Given the description of an element on the screen output the (x, y) to click on. 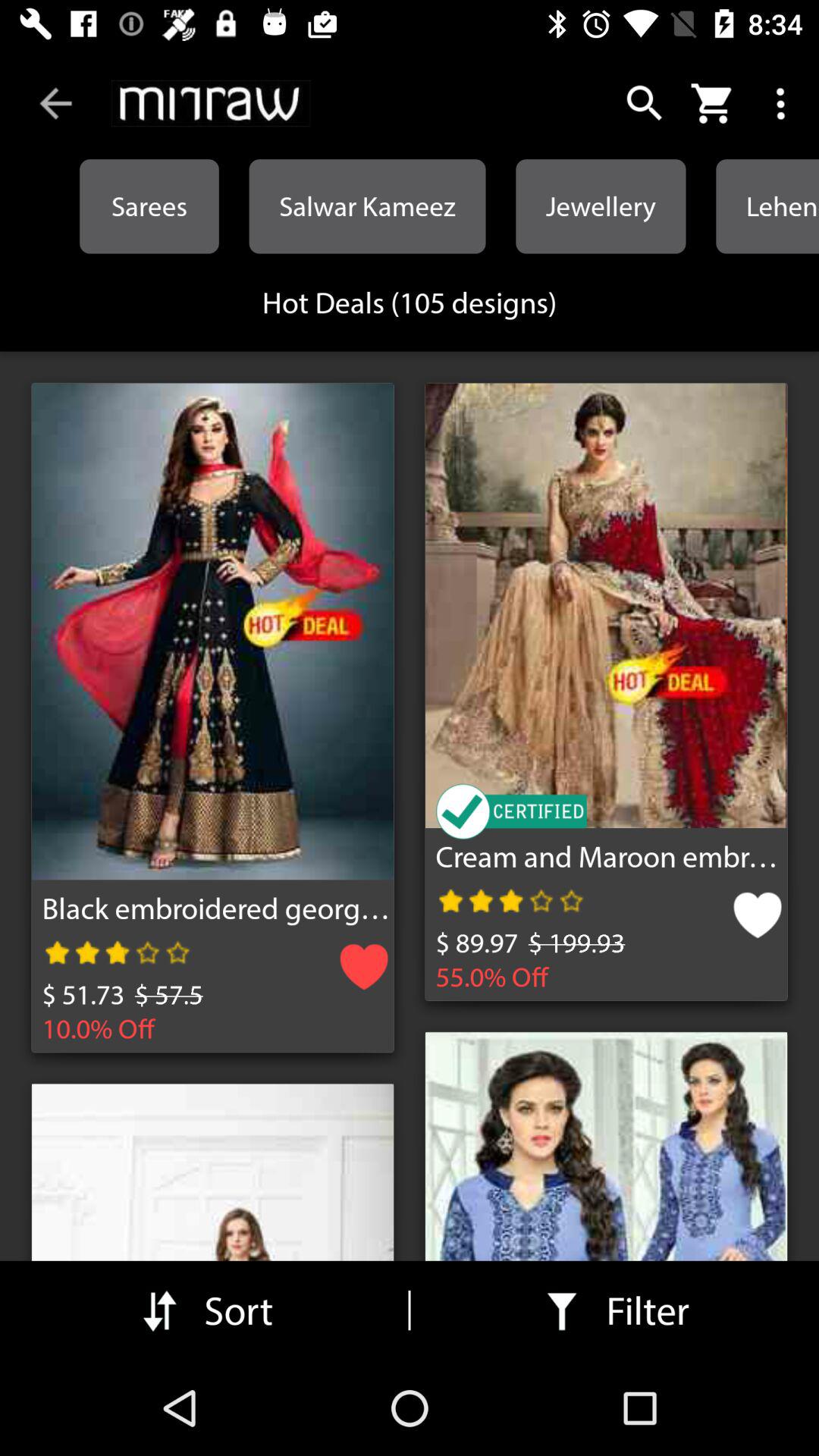
tap the item above sarees item (210, 103)
